Given the description of an element on the screen output the (x, y) to click on. 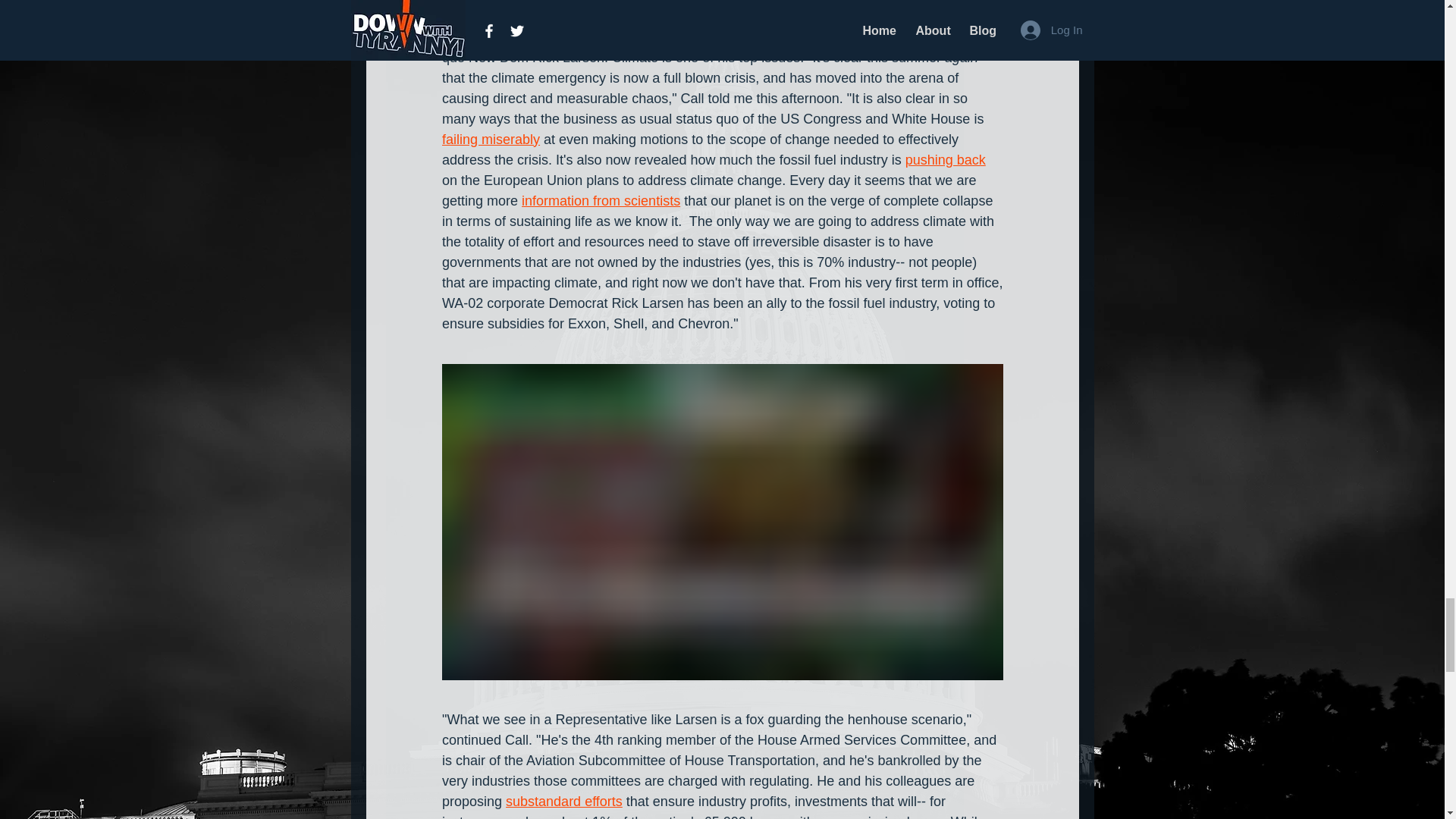
failing miserably (489, 139)
